Given the description of an element on the screen output the (x, y) to click on. 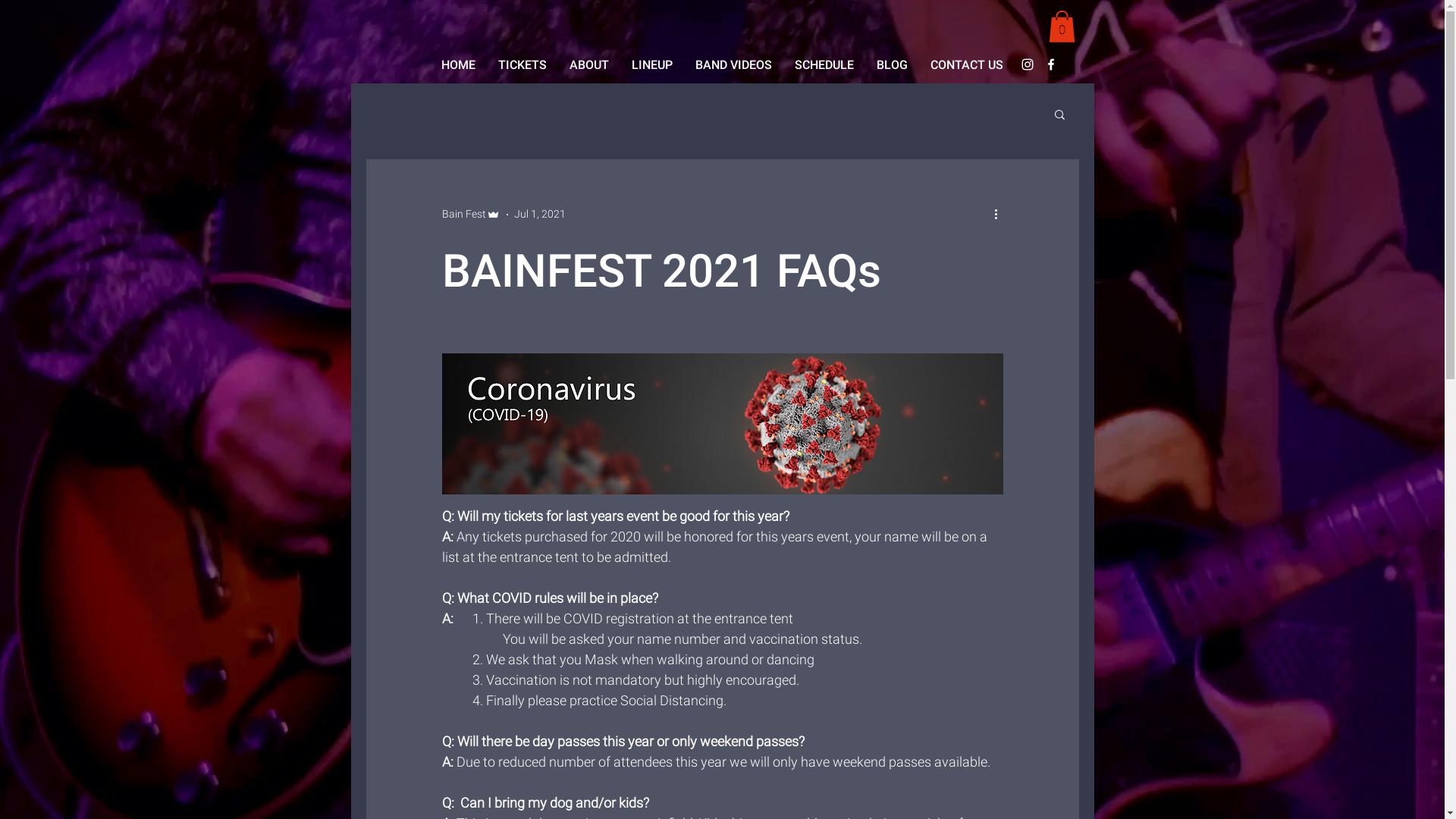
BLOG Element type: text (892, 64)
SCHEDULE Element type: text (824, 64)
LINEUP Element type: text (652, 64)
TICKETS Element type: text (522, 64)
Bain Fest Element type: text (470, 214)
ABOUT Element type: text (589, 64)
CONTACT US Element type: text (966, 64)
HOME Element type: text (457, 64)
0 Element type: text (1061, 26)
BAND VIDEOS Element type: text (733, 64)
